Given the description of an element on the screen output the (x, y) to click on. 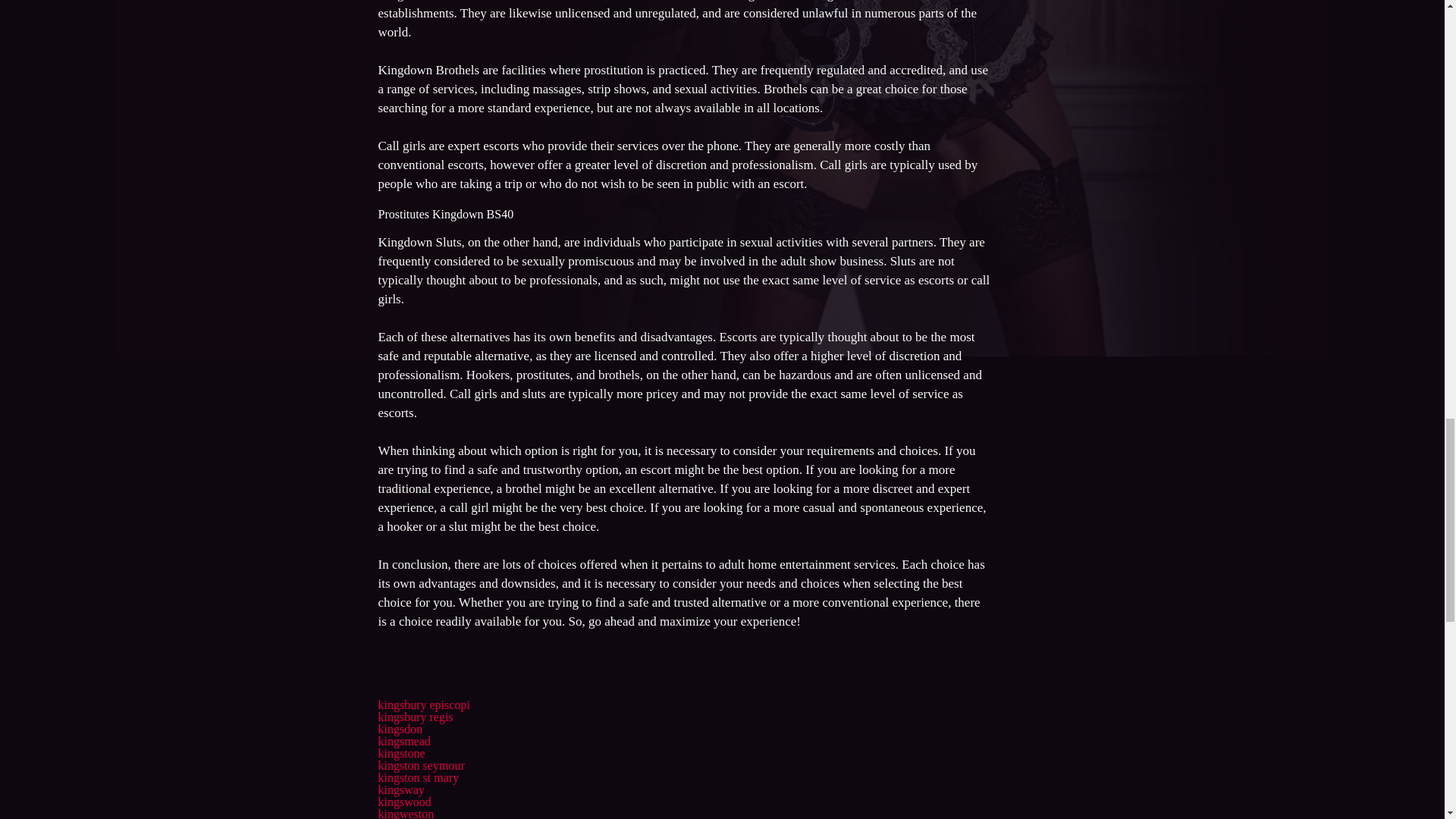
kingsdon (399, 728)
kingswood (403, 801)
kingston st mary (417, 777)
kingsbury regis (414, 716)
kingston seymour (420, 765)
kingsway (400, 789)
kingsmead (403, 740)
kingsbury episcopi (422, 704)
kingstone (401, 753)
kingweston (405, 813)
